Given the description of an element on the screen output the (x, y) to click on. 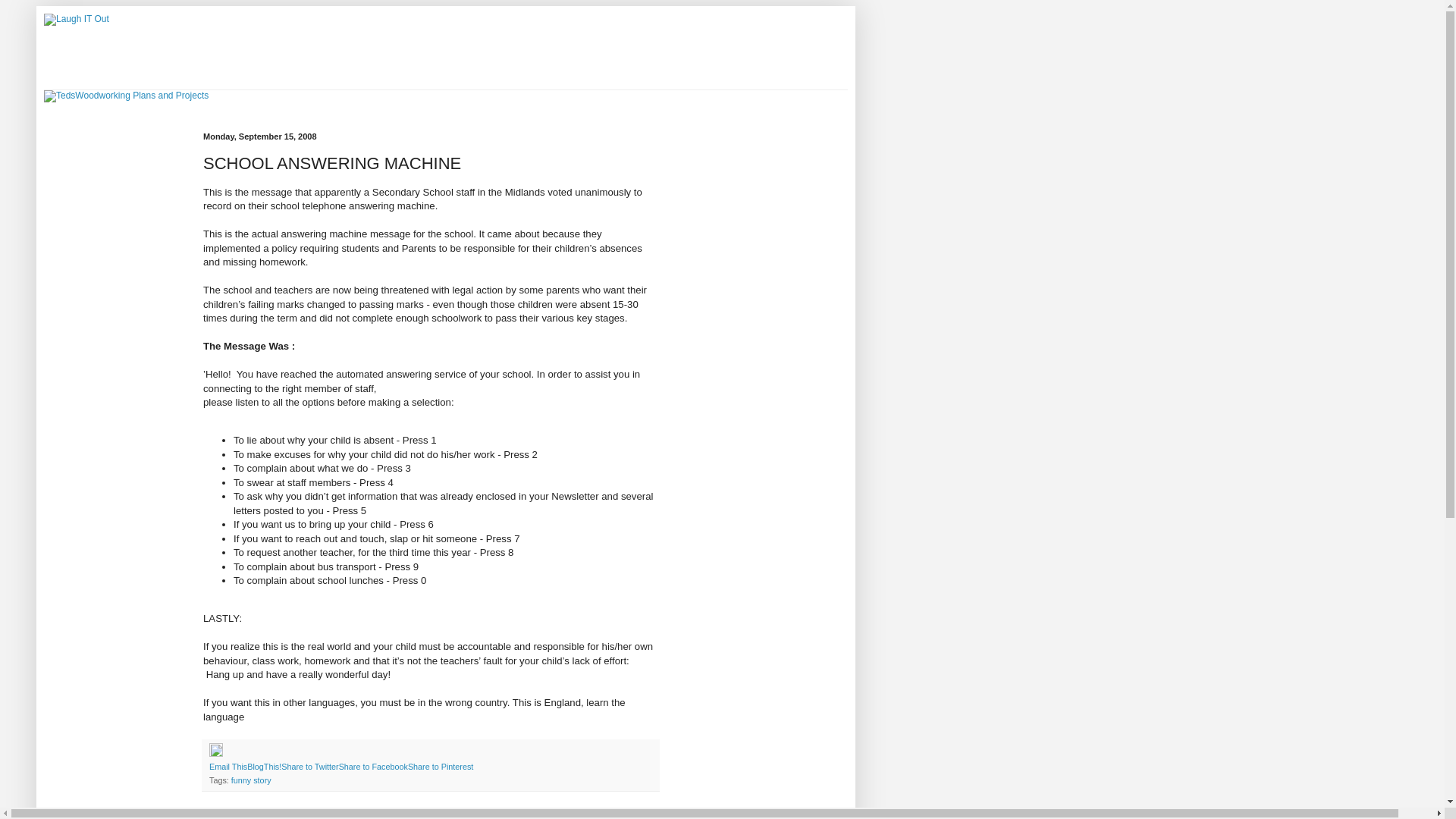
Share to Pinterest (440, 766)
funny story (250, 779)
Edit Post (215, 753)
Share to Pinterest (440, 766)
Email This (228, 766)
BlogThis! (264, 766)
Share to Facebook (373, 766)
Share to Twitter (309, 766)
Email This (228, 766)
Share to Facebook (373, 766)
Share to Twitter (309, 766)
BlogThis! (264, 766)
